Given the description of an element on the screen output the (x, y) to click on. 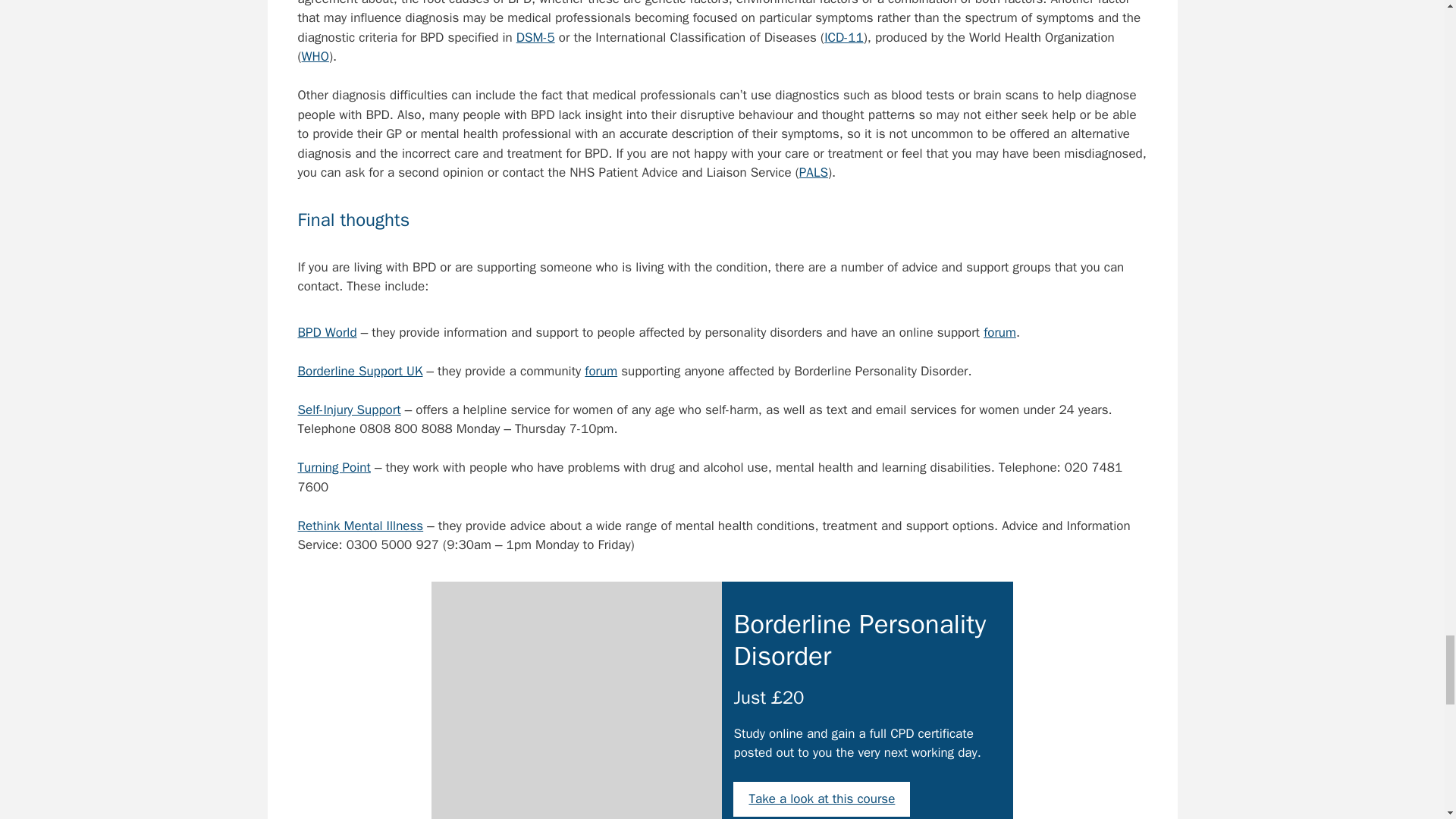
Borderline Personality Disorder Course (576, 713)
